Given the description of an element on the screen output the (x, y) to click on. 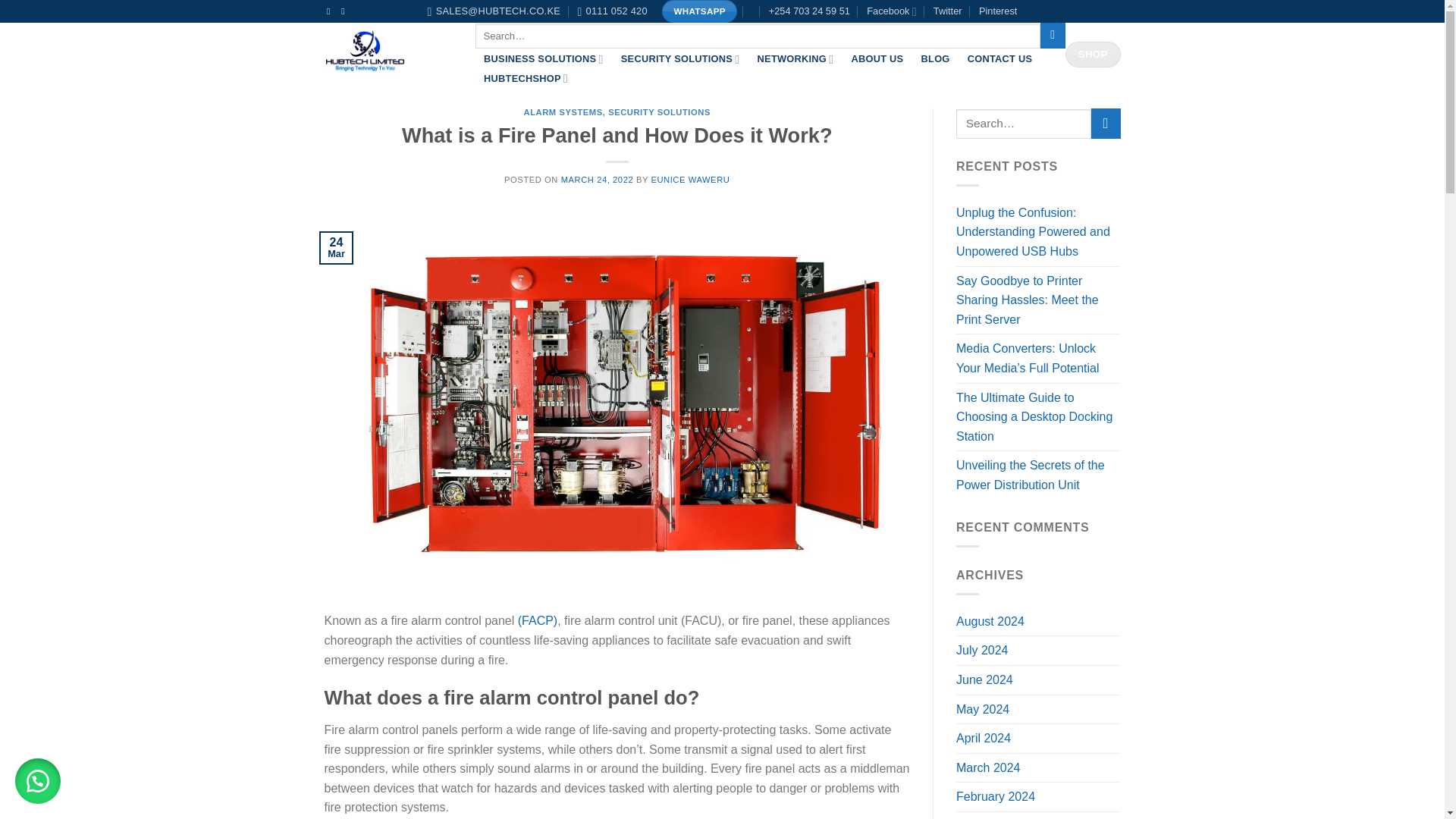
Pinterest (997, 11)
Hubtech Kenya - Bringing Technology To You (388, 53)
BUSINESS SOLUTIONS (542, 58)
Search (1053, 35)
0111 052 420 (611, 11)
NETWORKING (795, 58)
WHATSAPP (699, 11)
Twitter (947, 11)
Facebook (890, 11)
SECURITY SOLUTIONS (679, 58)
